Given the description of an element on the screen output the (x, y) to click on. 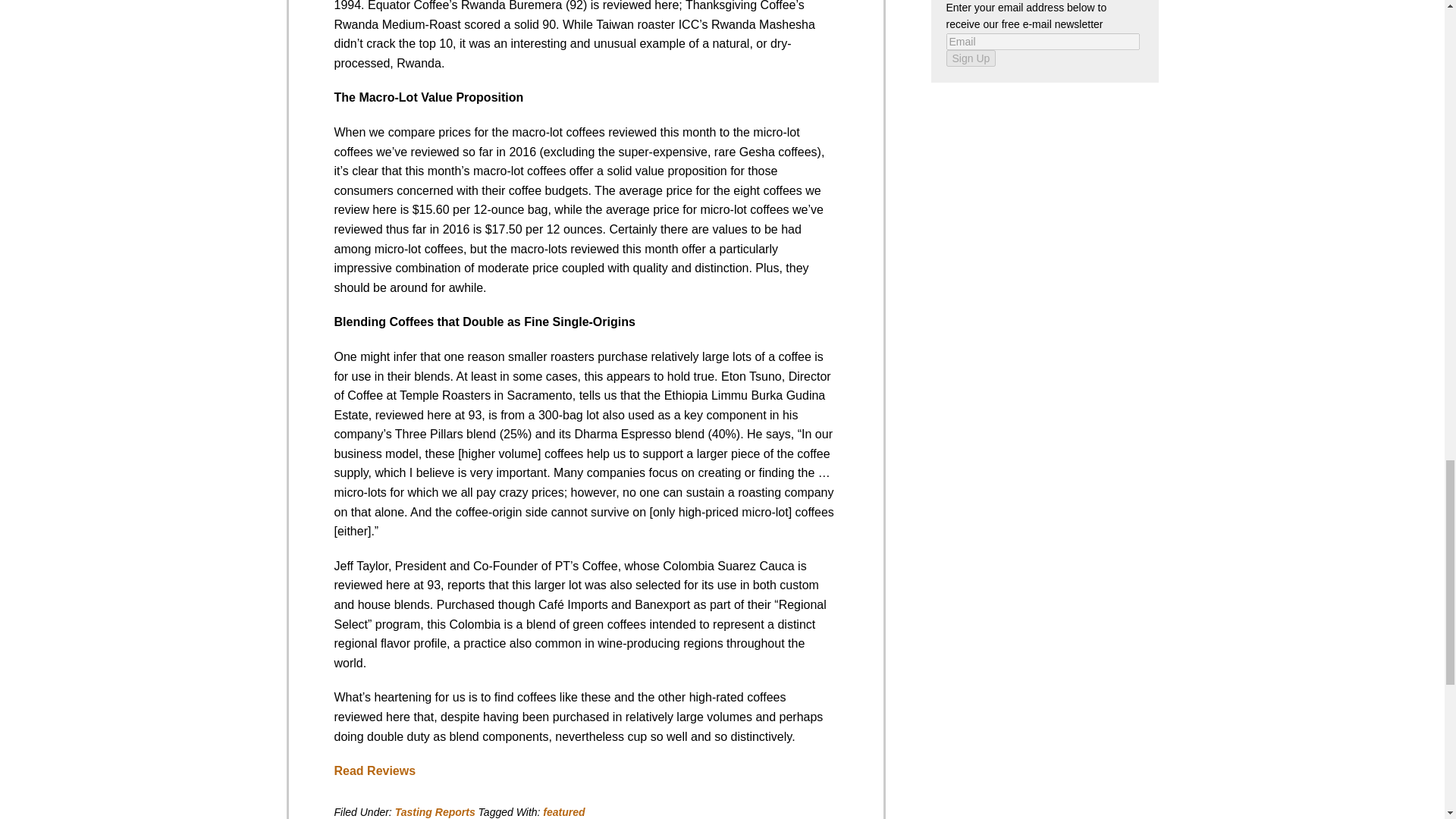
Sign Up (970, 57)
